Given the description of an element on the screen output the (x, y) to click on. 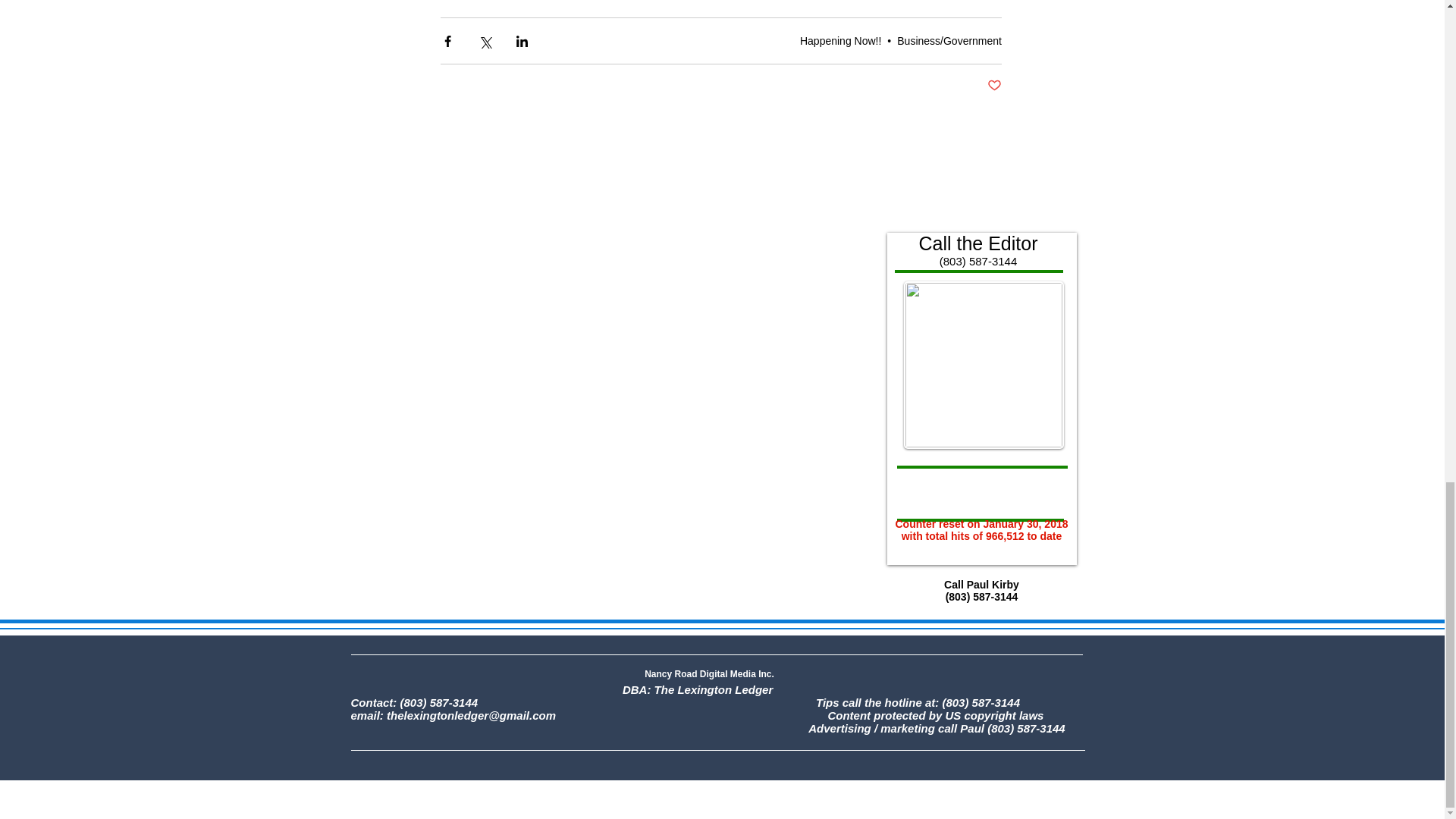
Post not marked as liked (994, 85)
Happening Now!! (839, 40)
